Given the description of an element on the screen output the (x, y) to click on. 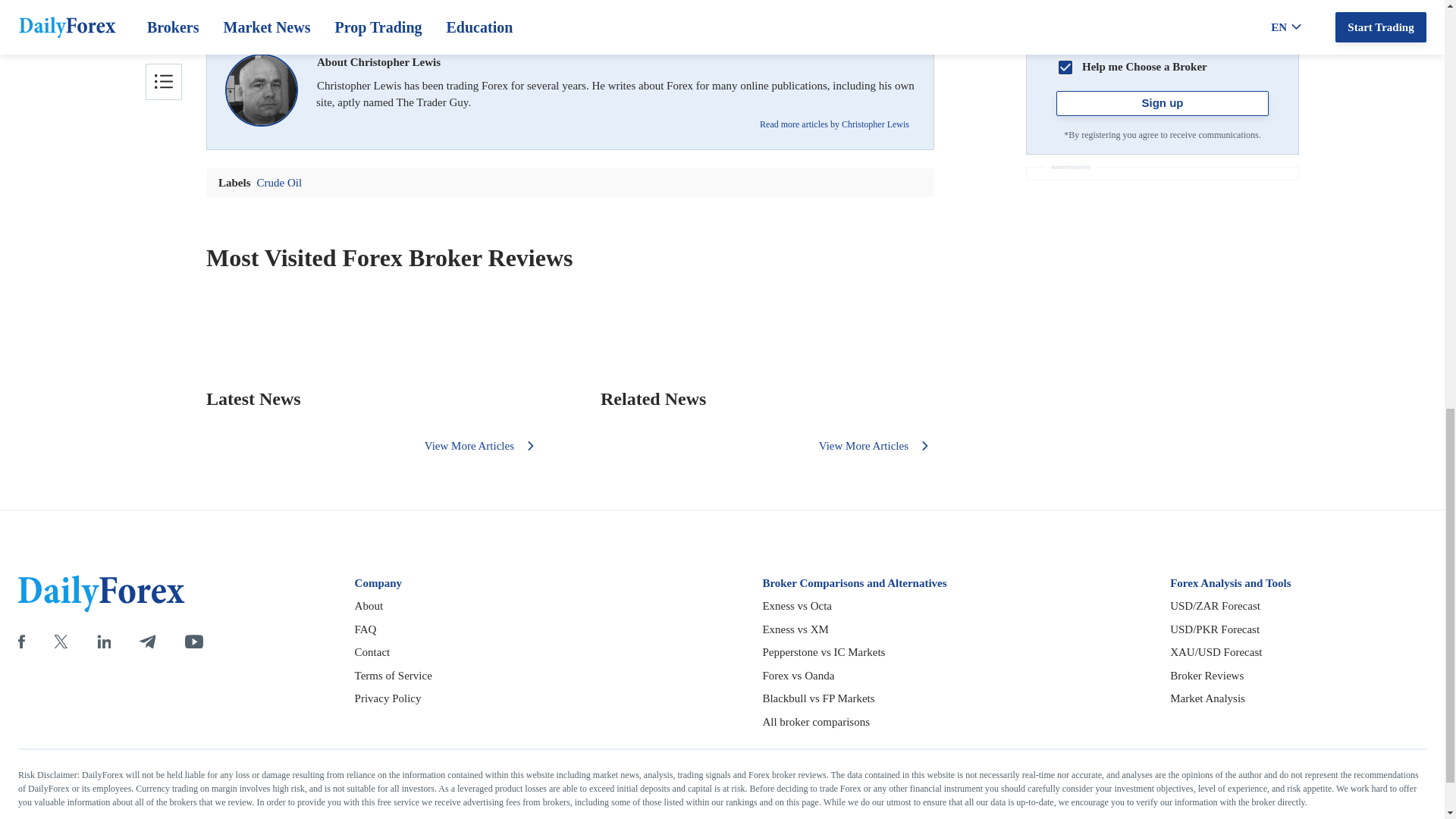
Christopher Lewis (261, 90)
View More Articles (482, 445)
Crude Oil (570, 6)
View More Articles (876, 445)
